Given the description of an element on the screen output the (x, y) to click on. 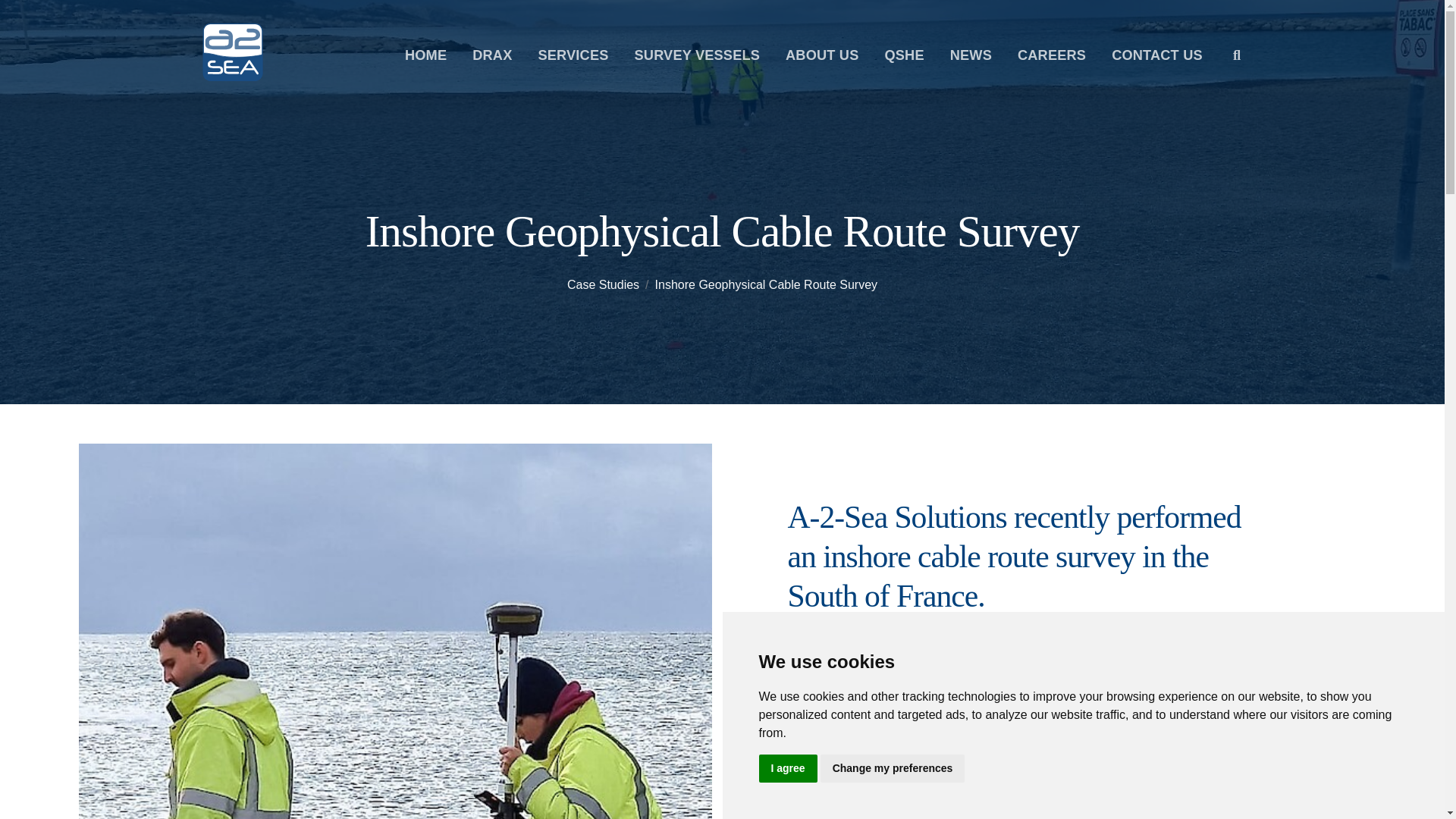
I agree (787, 768)
Change my preferences (893, 768)
DRAX (491, 54)
SERVICES (572, 54)
HOME (425, 54)
